Given the description of an element on the screen output the (x, y) to click on. 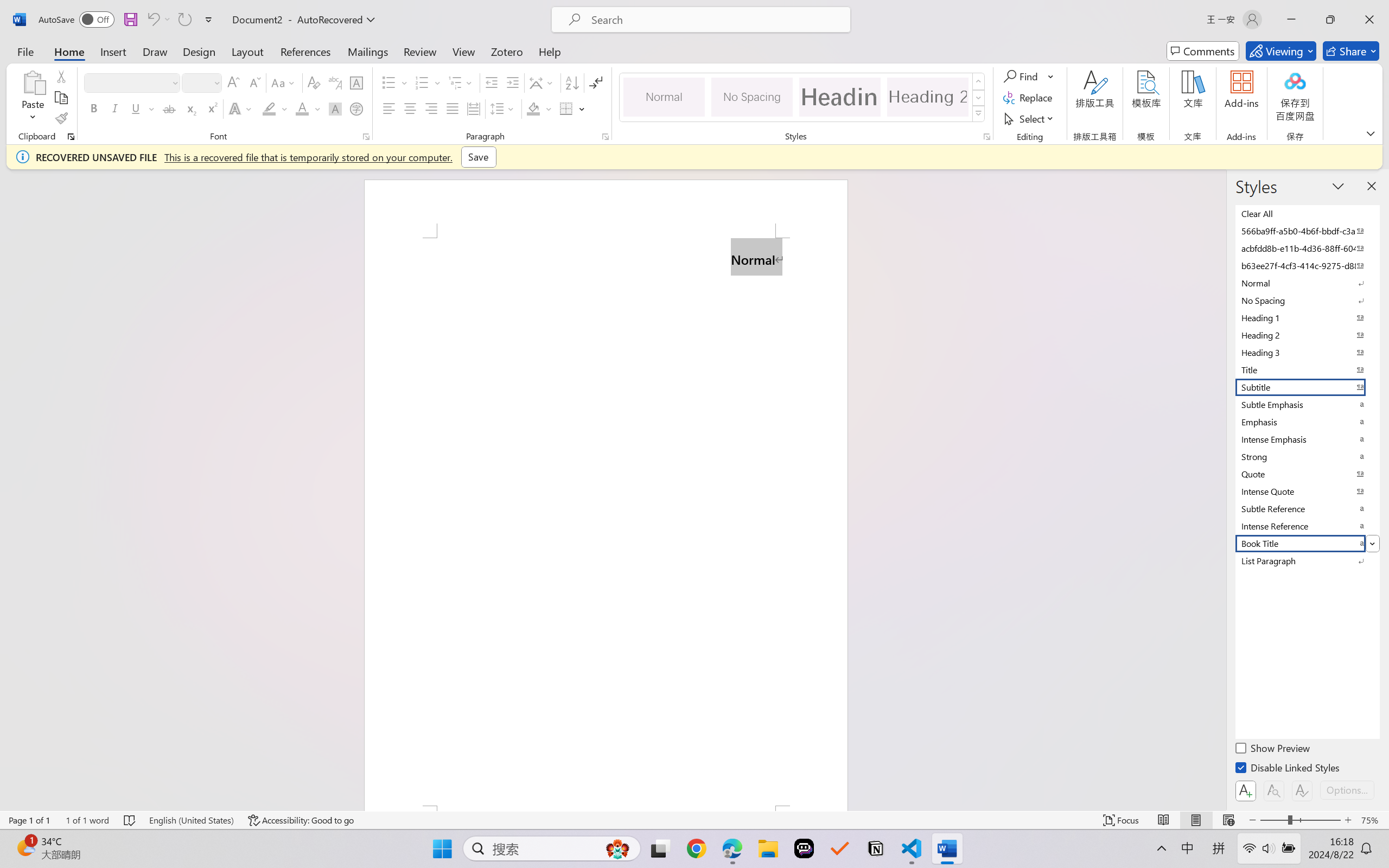
Styles... (986, 136)
Clear All (1306, 213)
Shrink Font (253, 82)
Sort... (571, 82)
Emphasis (1306, 421)
